Given the description of an element on the screen output the (x, y) to click on. 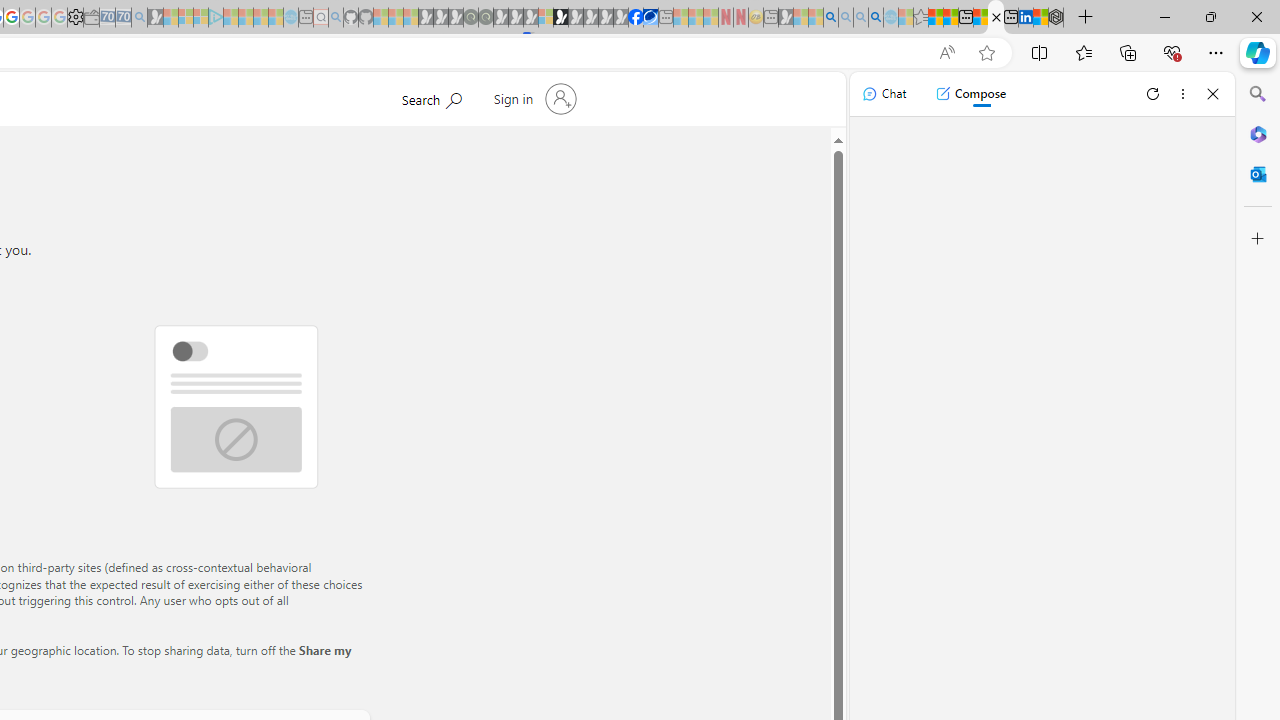
Favorites - Sleeping (920, 17)
Sign in to your account - Sleeping (545, 17)
